Given the description of an element on the screen output the (x, y) to click on. 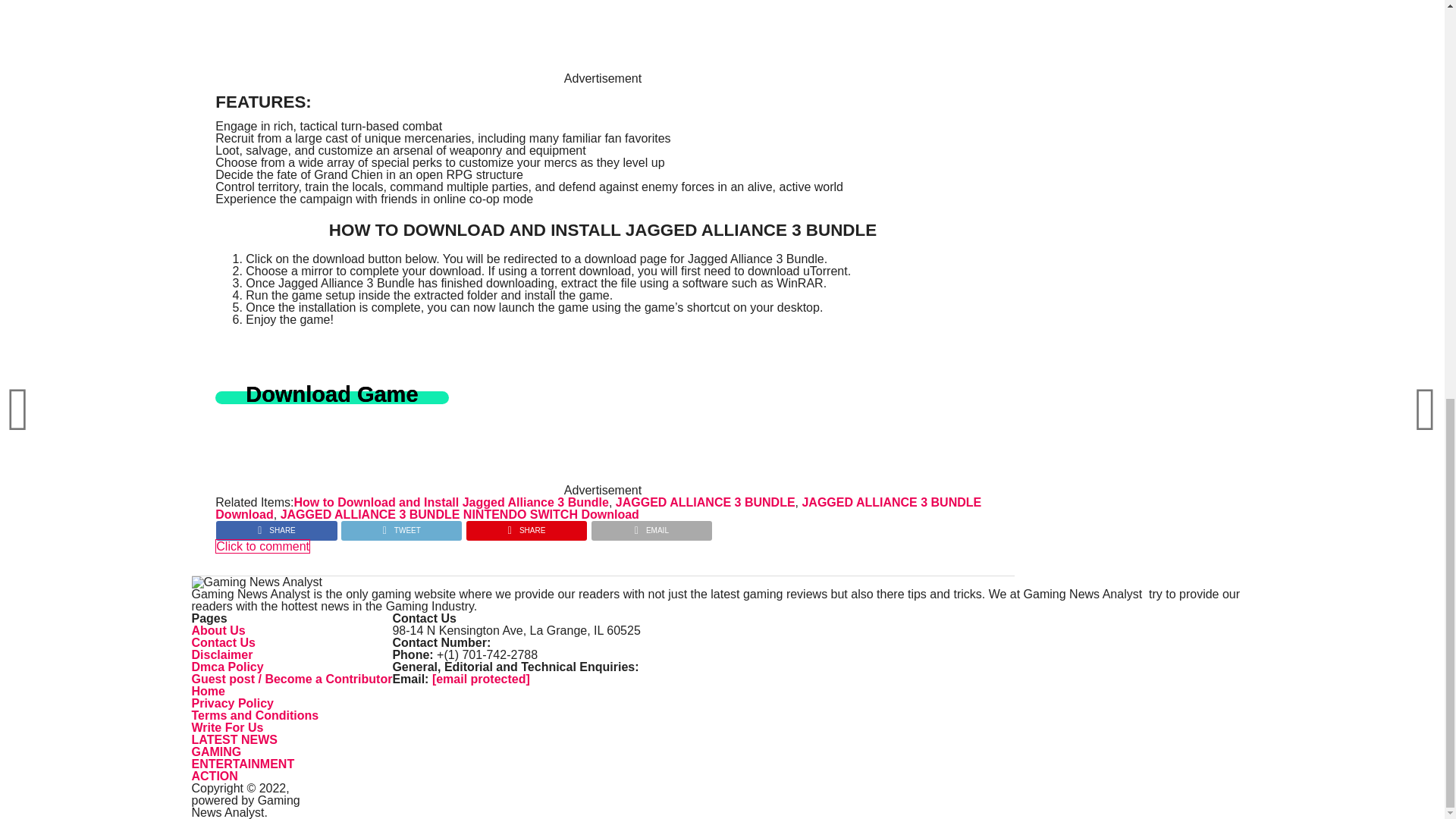
SHARE (275, 526)
How to Download and Install Jagged Alliance 3 Bundle (451, 502)
TWEET (400, 526)
JAGGED ALLIANCE 3 BUNDLE Download (598, 508)
EMAIL (651, 526)
SHARE (525, 526)
JAGGED ALLIANCE 3 BUNDLE NINTENDO SWITCH Download (460, 513)
Download Game (331, 397)
Share on Facebook (275, 526)
JAGGED ALLIANCE 3 BUNDLE (704, 502)
